Given the description of an element on the screen output the (x, y) to click on. 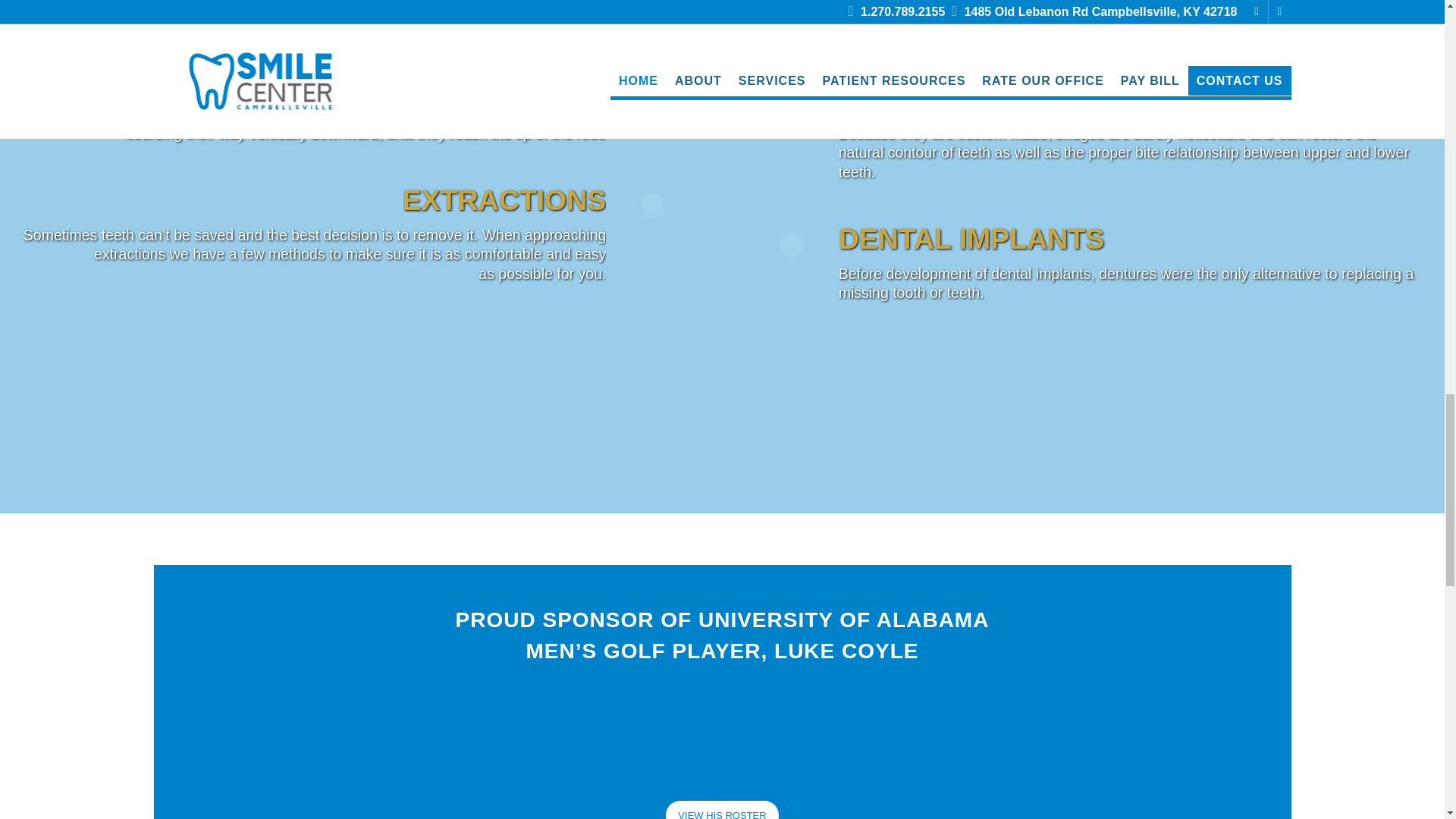
lukecoyle (721, 730)
border-bottom (721, 466)
